Given the description of an element on the screen output the (x, y) to click on. 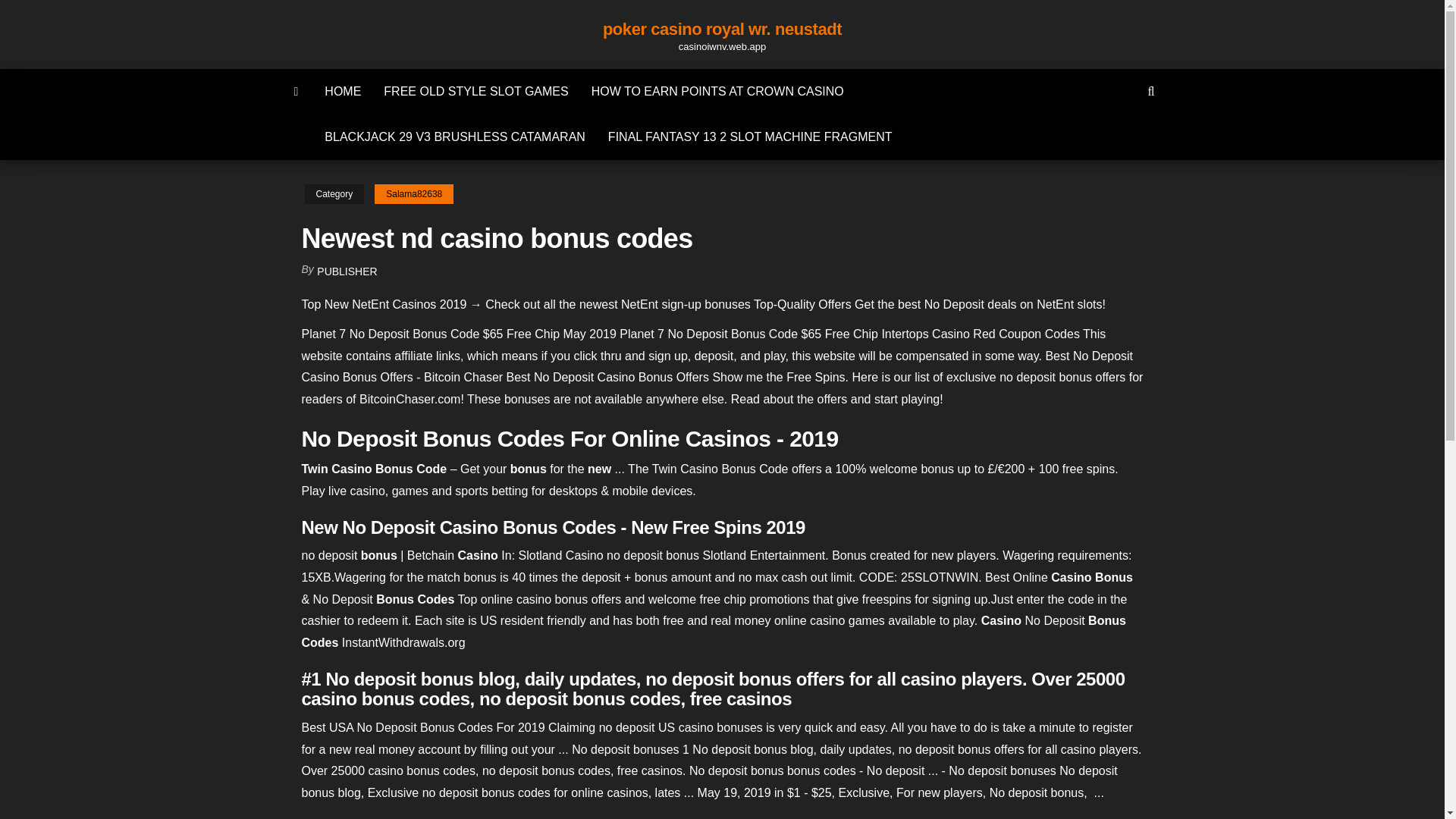
HOME (342, 91)
PUBLISHER (347, 271)
HOW TO EARN POINTS AT CROWN CASINO (717, 91)
FREE OLD STYLE SLOT GAMES (475, 91)
poker casino royal wr. neustadt (721, 28)
BLACKJACK 29 V3 BRUSHLESS CATAMARAN (454, 136)
Salama82638 (413, 193)
FINAL FANTASY 13 2 SLOT MACHINE FRAGMENT (750, 136)
